Given the description of an element on the screen output the (x, y) to click on. 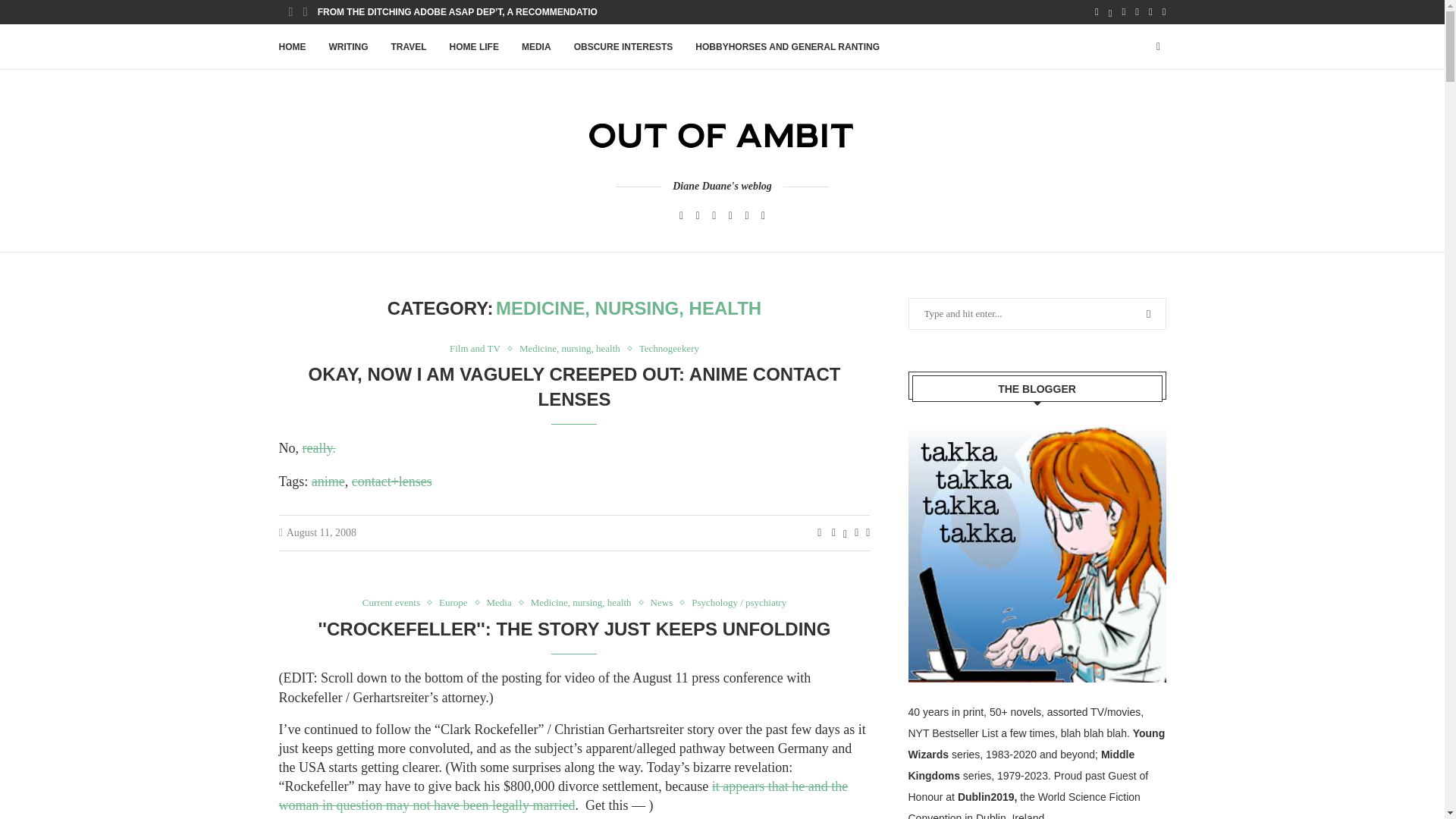
HOBBYHORSES AND GENERAL RANTING (787, 46)
OBSCURE INTERESTS (622, 46)
HOME LIFE (474, 46)
WRITING (348, 46)
